Given the description of an element on the screen output the (x, y) to click on. 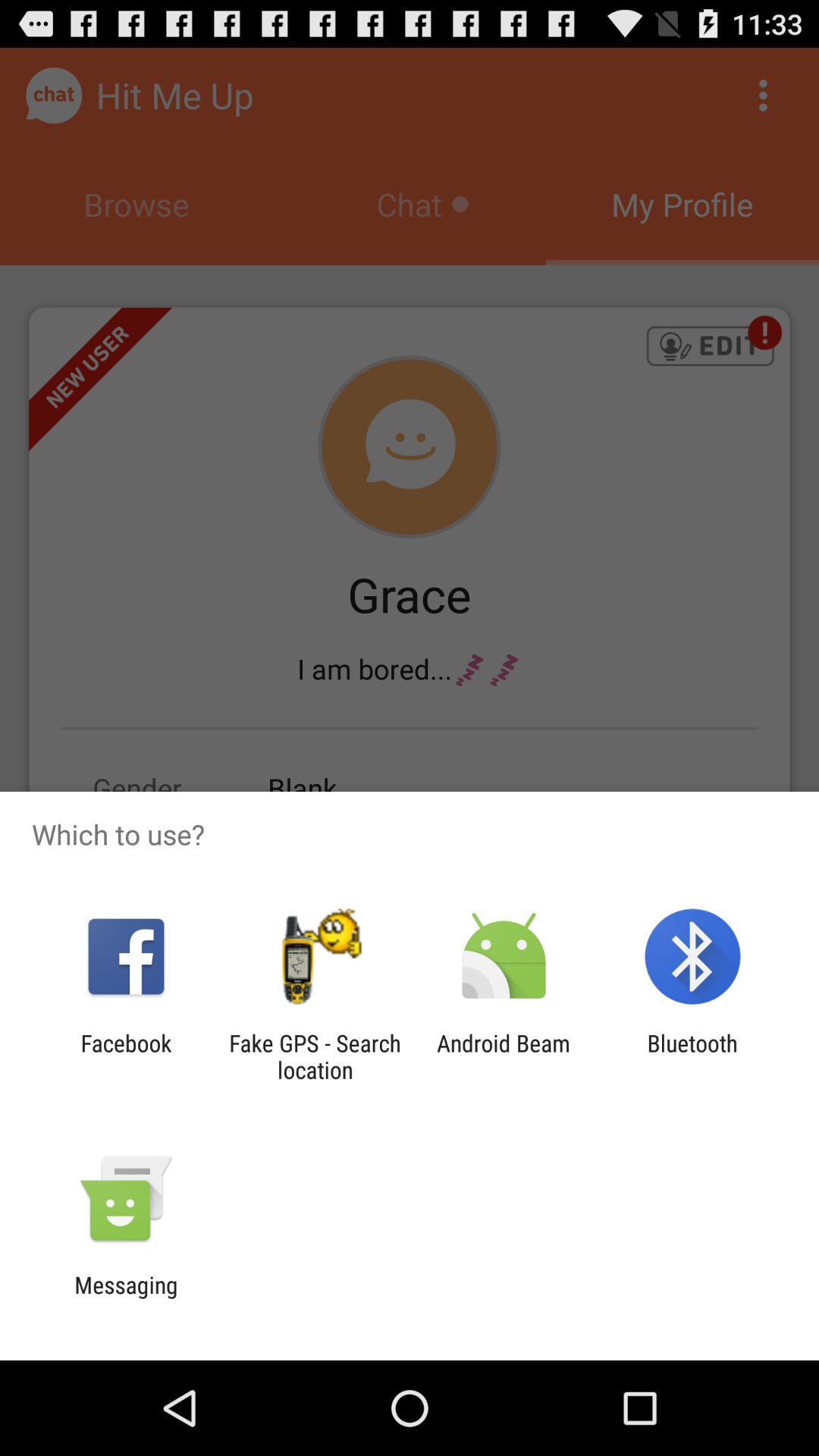
turn off item next to bluetooth item (503, 1056)
